Given the description of an element on the screen output the (x, y) to click on. 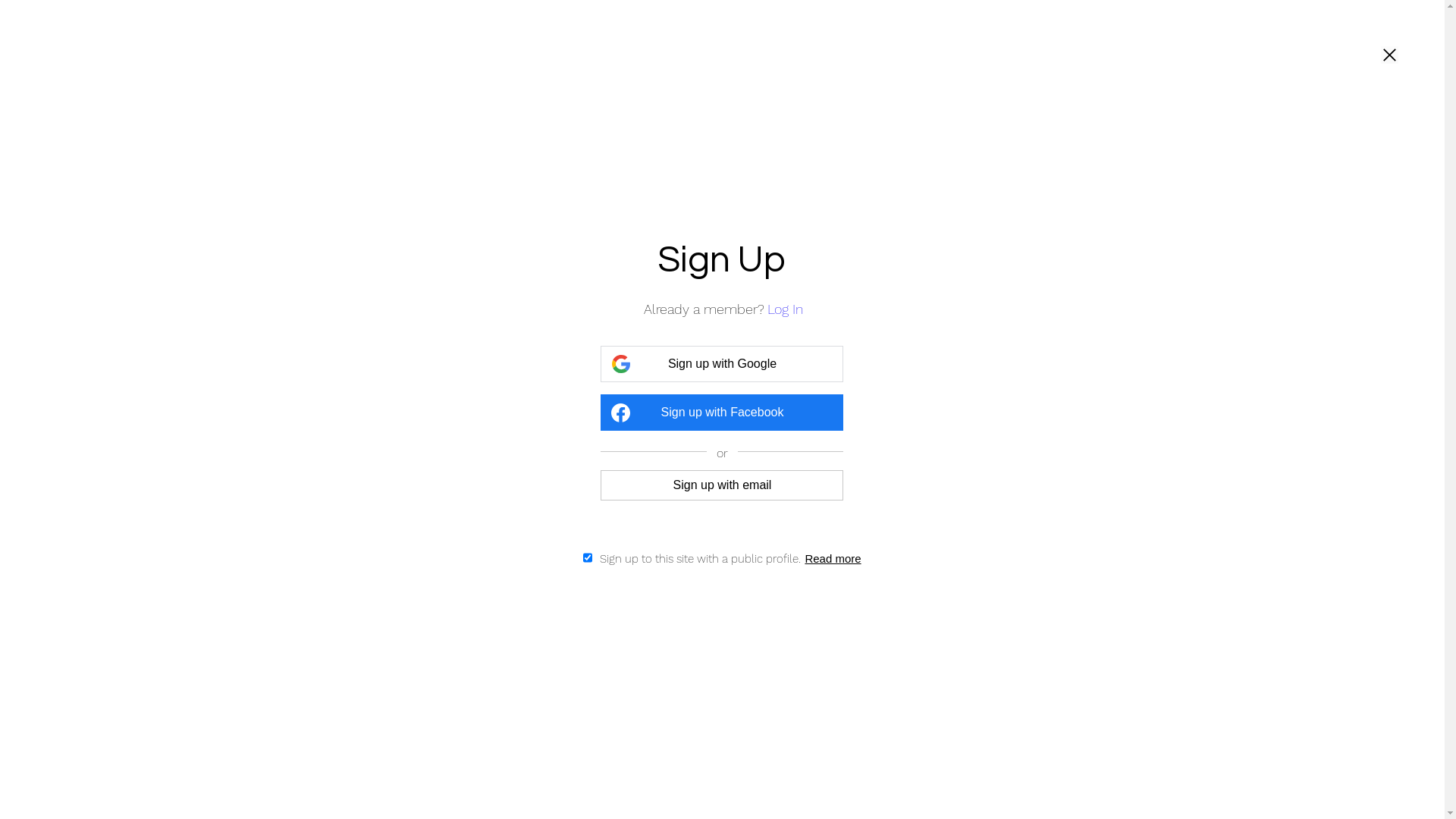
Sign up with Google Element type: text (721, 363)
Log In Element type: text (785, 309)
Read more Element type: text (832, 558)
Sign up with email Element type: text (721, 485)
Sign up with Facebook Element type: text (721, 412)
